Given the description of an element on the screen output the (x, y) to click on. 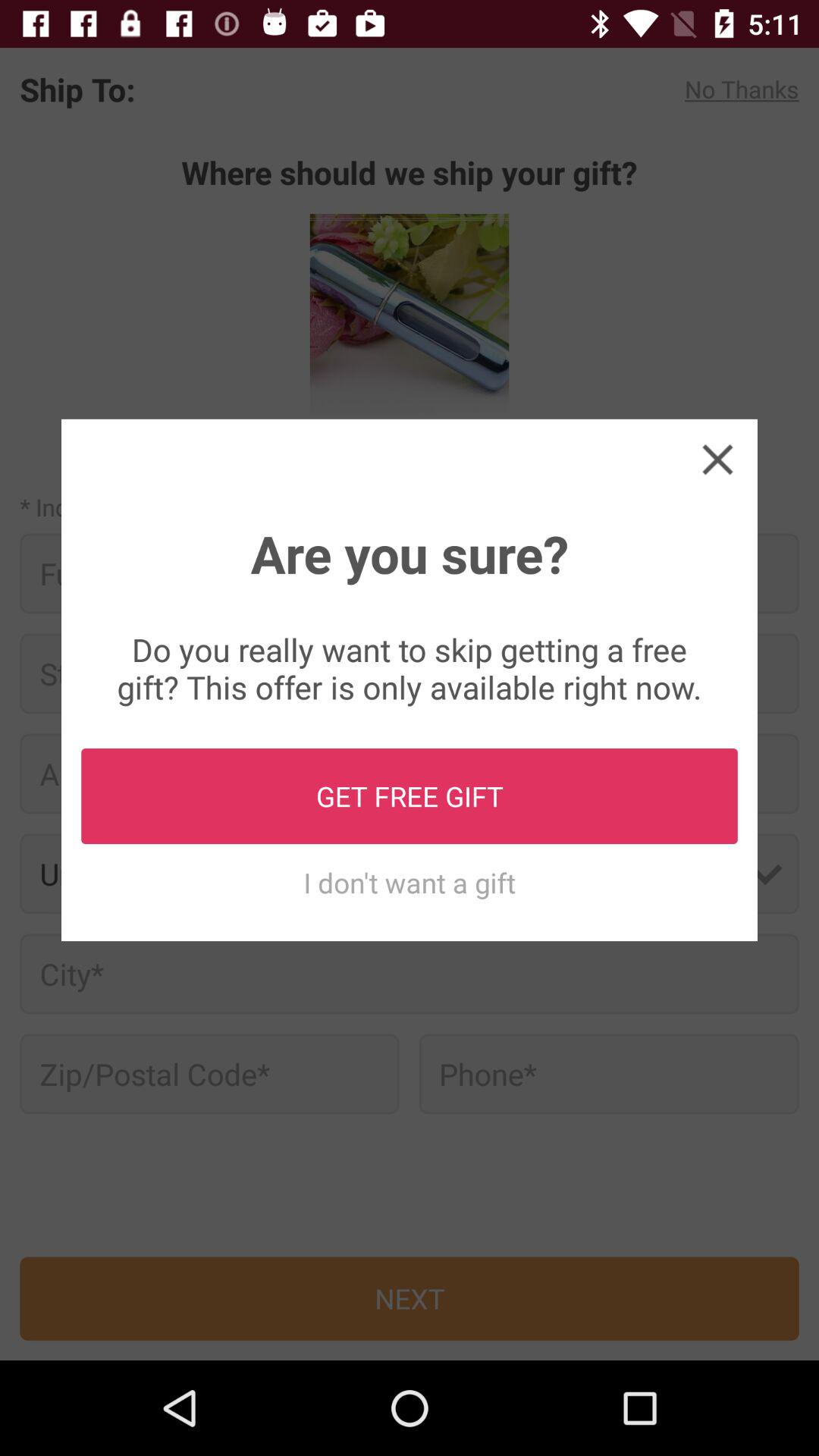
closing option (717, 458)
